Given the description of an element on the screen output the (x, y) to click on. 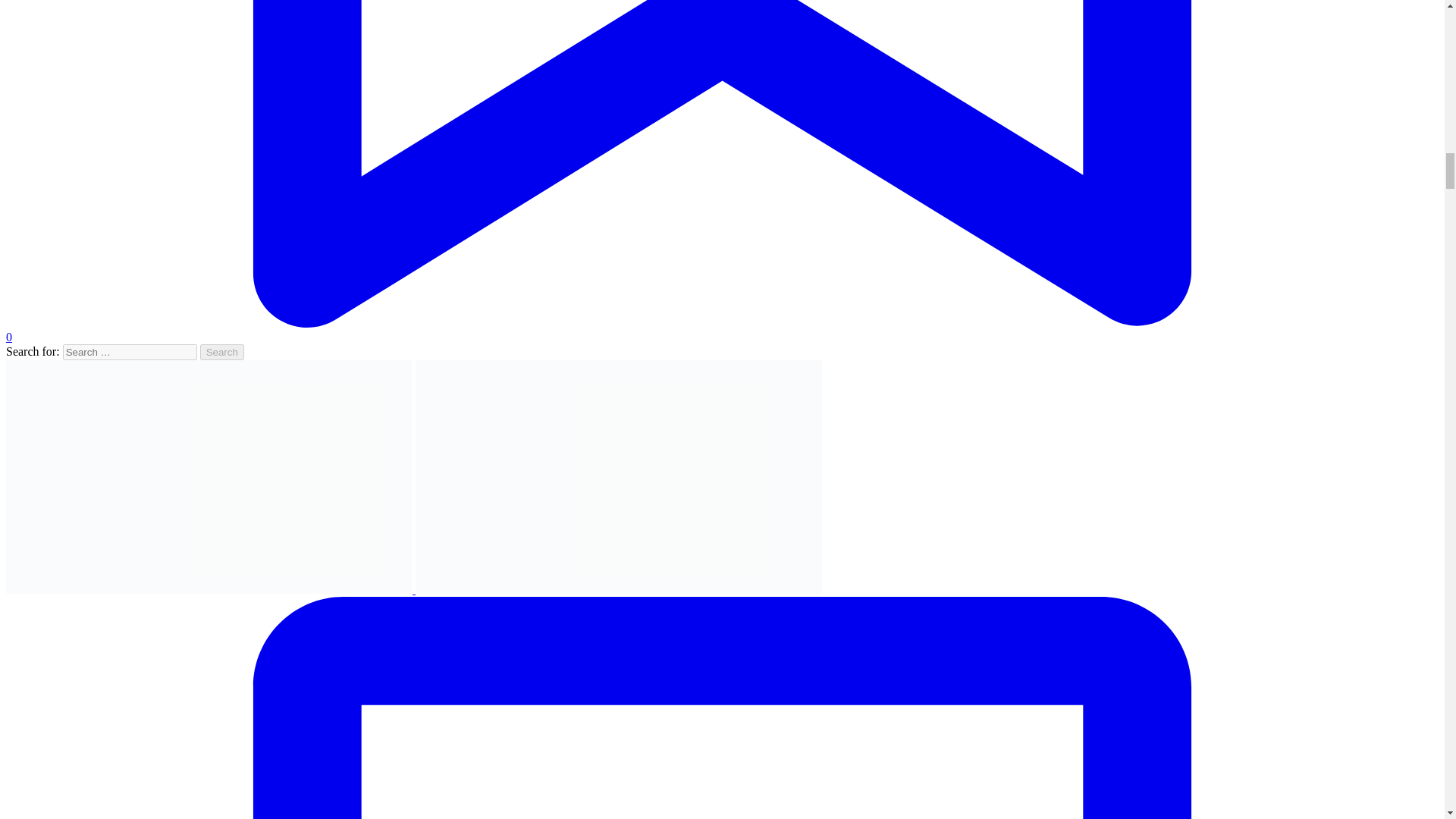
Search (222, 351)
Search (222, 351)
Search (222, 351)
